Given the description of an element on the screen output the (x, y) to click on. 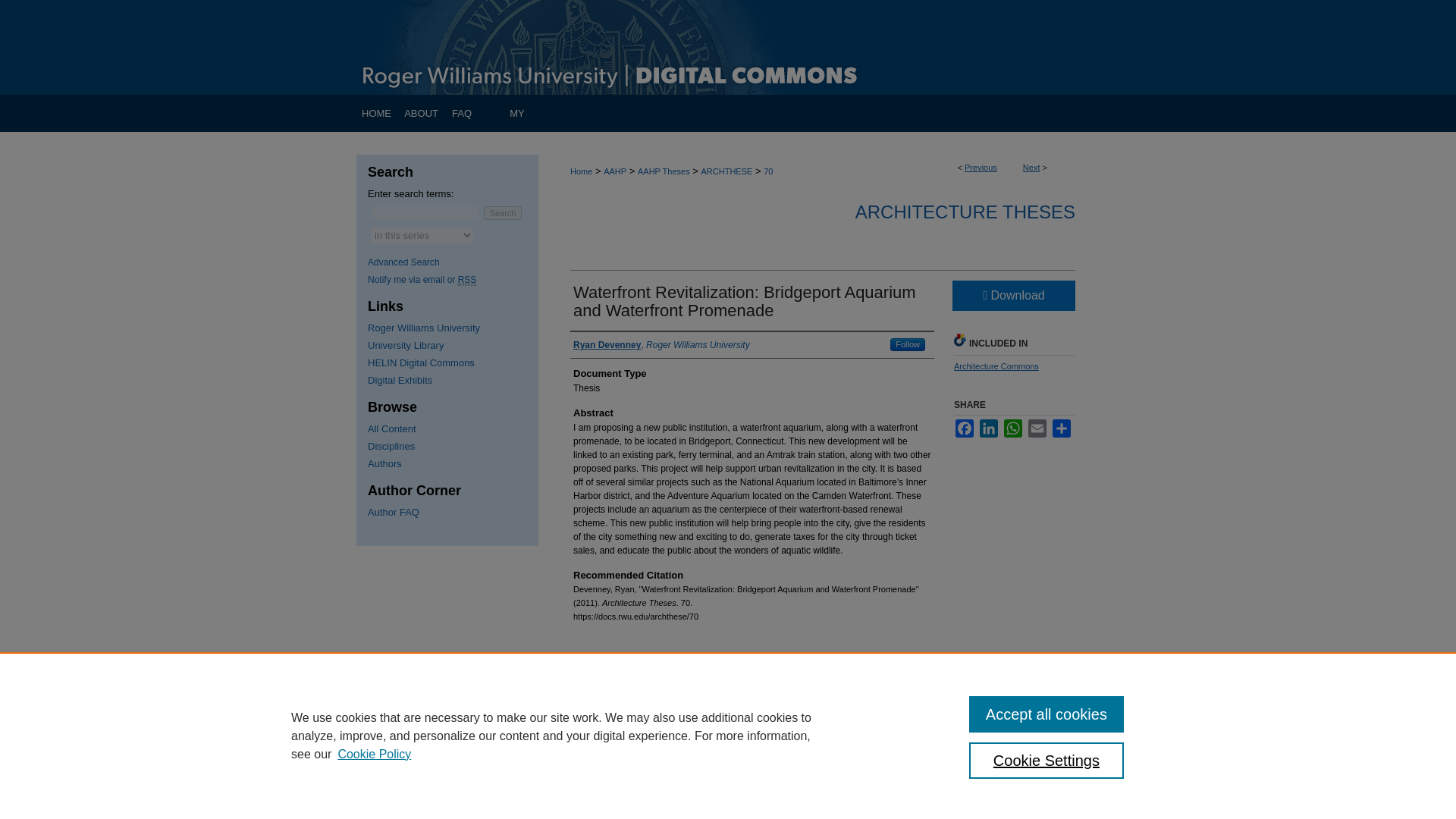
University Library (453, 345)
LinkedIn (988, 428)
Search (502, 213)
Next (1032, 166)
FAQ (461, 113)
Email or RSS Notifications (453, 279)
Digital Exhibits (453, 379)
University Library (453, 345)
ARCHTHESE (726, 171)
Home (376, 113)
About (420, 113)
Email (1037, 428)
Download (1013, 295)
ARCHITECTURE THESES (965, 211)
AAHP (615, 171)
